Given the description of an element on the screen output the (x, y) to click on. 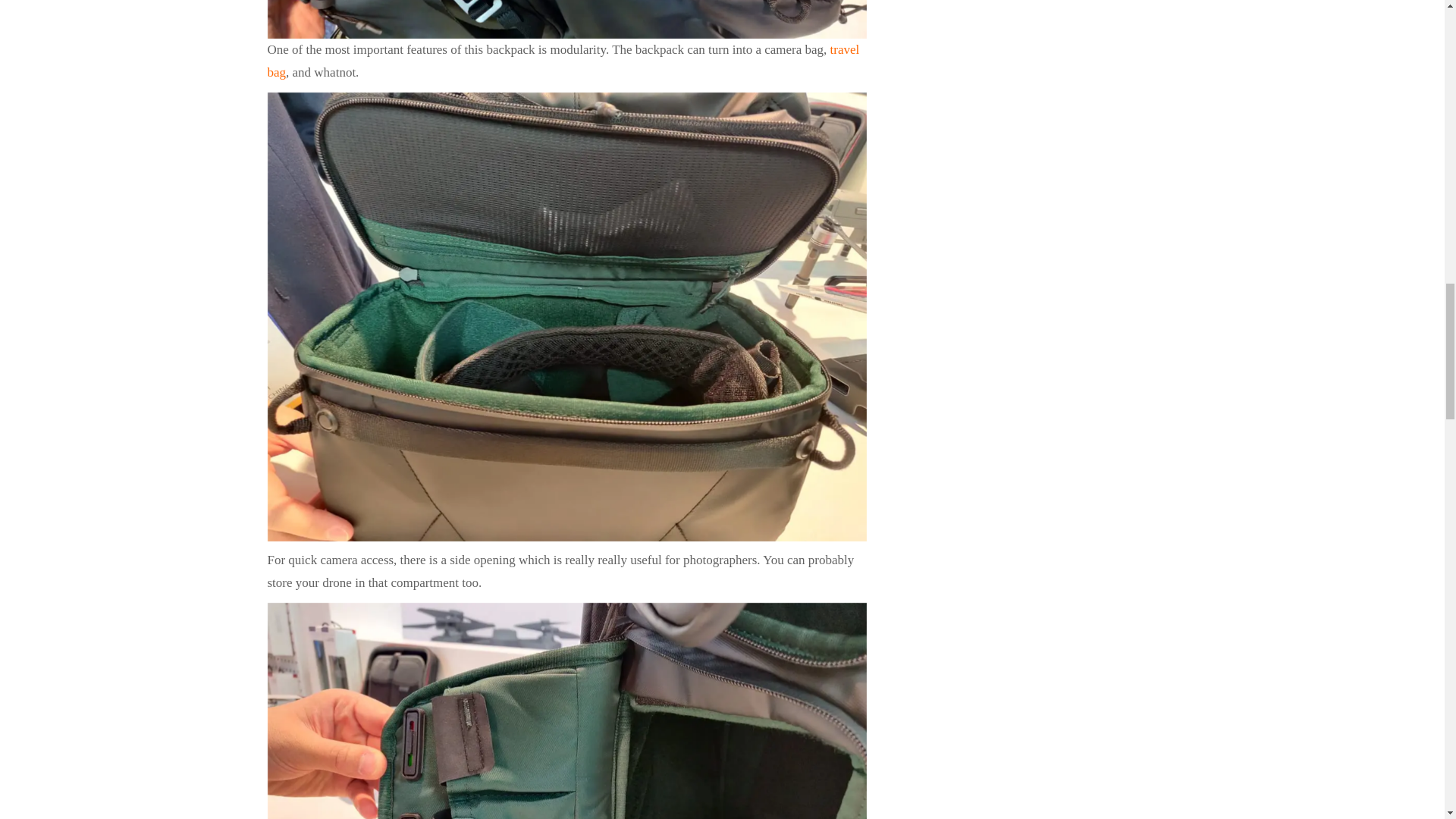
travel bag (562, 60)
